Given the description of an element on the screen output the (x, y) to click on. 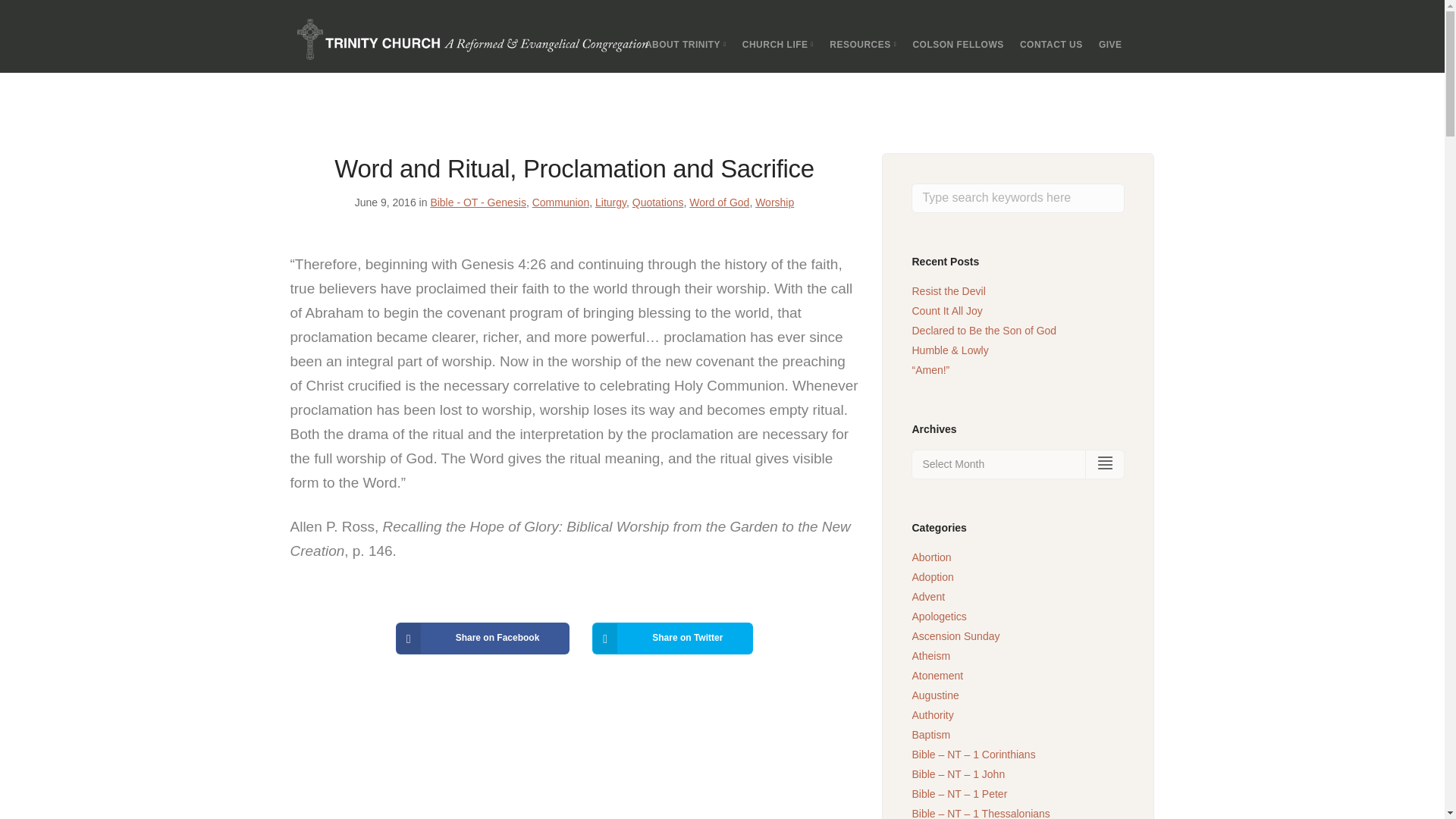
CHURCH LIFE (777, 44)
Adoption (932, 576)
ABOUT TRINITY (685, 44)
Liturgy (610, 202)
Abortion (930, 557)
Declared to Be the Son of God (984, 330)
CONTACT US (1051, 44)
Quotations (657, 202)
Share on Facebook (483, 638)
Count It All Joy (946, 310)
Worship (774, 202)
Share on Twitter (672, 638)
Bible - OT - Genesis (477, 202)
Resist the Devil (948, 291)
Communion (560, 202)
